Given the description of an element on the screen output the (x, y) to click on. 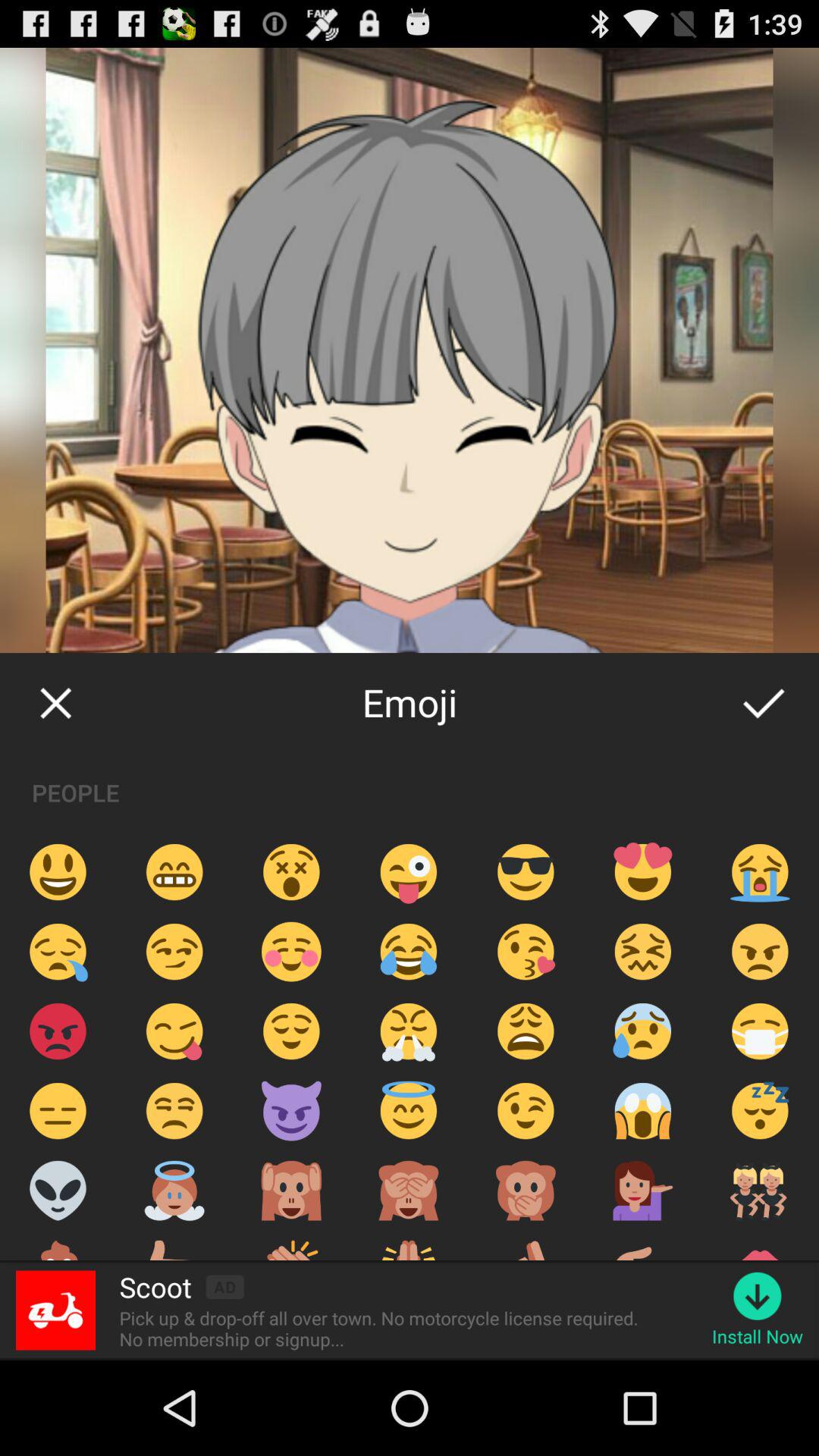
launch icon above people (763, 702)
